Given the description of an element on the screen output the (x, y) to click on. 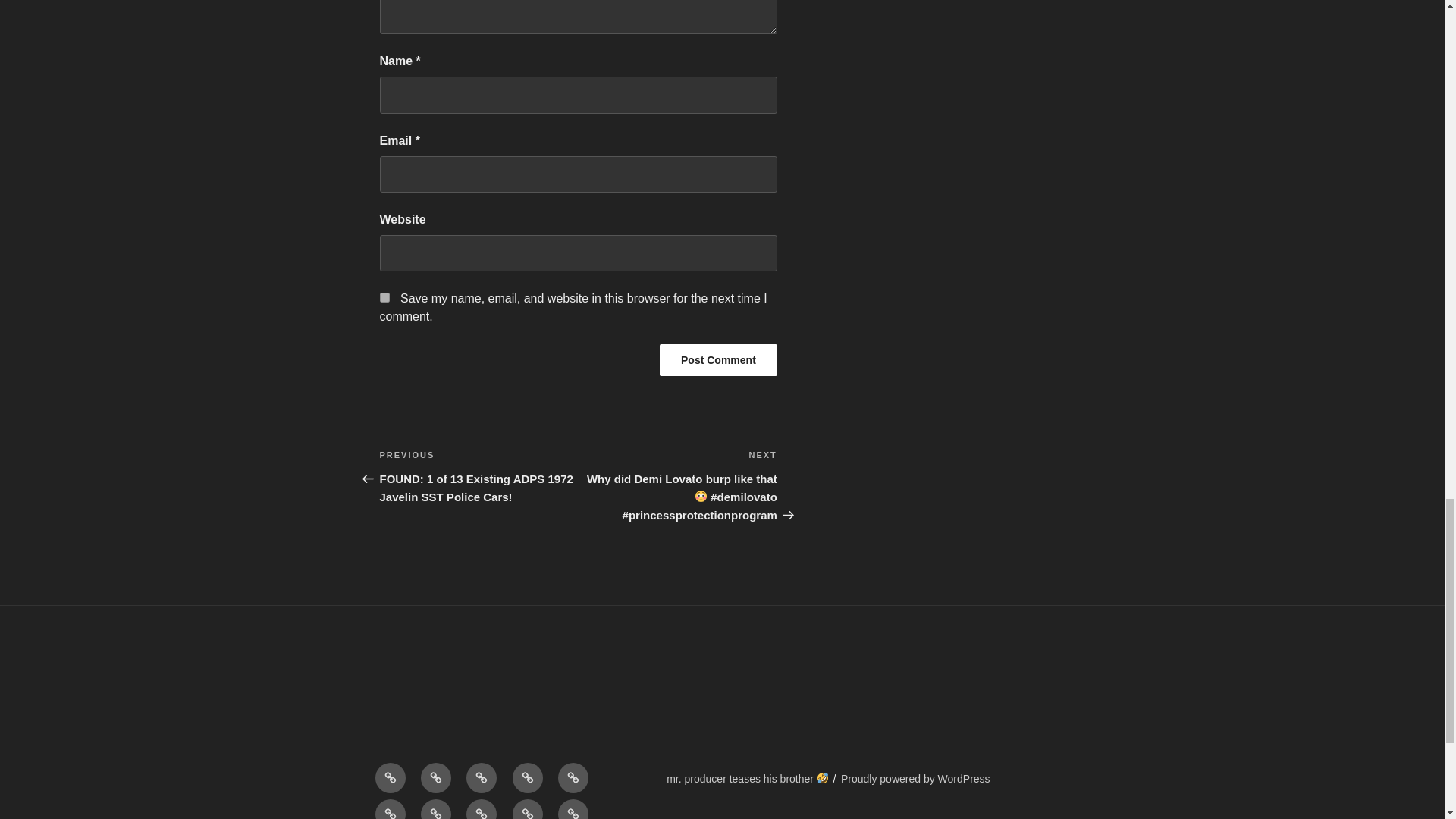
yes (383, 297)
Post Comment (718, 359)
